Given the description of an element on the screen output the (x, y) to click on. 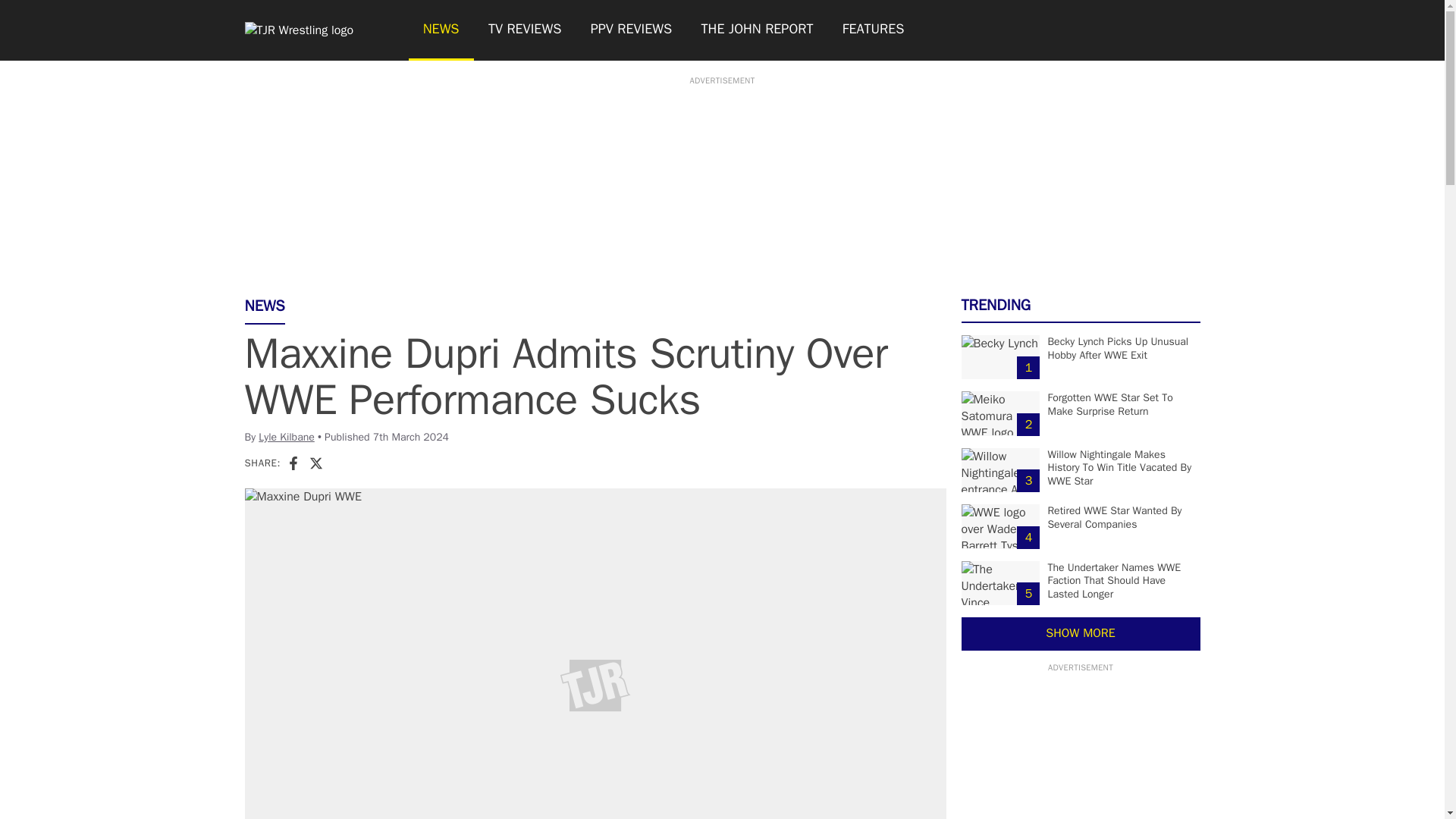
Facebook (292, 462)
X (315, 463)
Facebook (292, 463)
NEWS (440, 30)
FEATURES (873, 30)
X (315, 462)
Lyle Kilbane (286, 436)
THE JOHN REPORT (756, 30)
TV REVIEWS (525, 30)
PPV REVIEWS (631, 30)
